Given the description of an element on the screen output the (x, y) to click on. 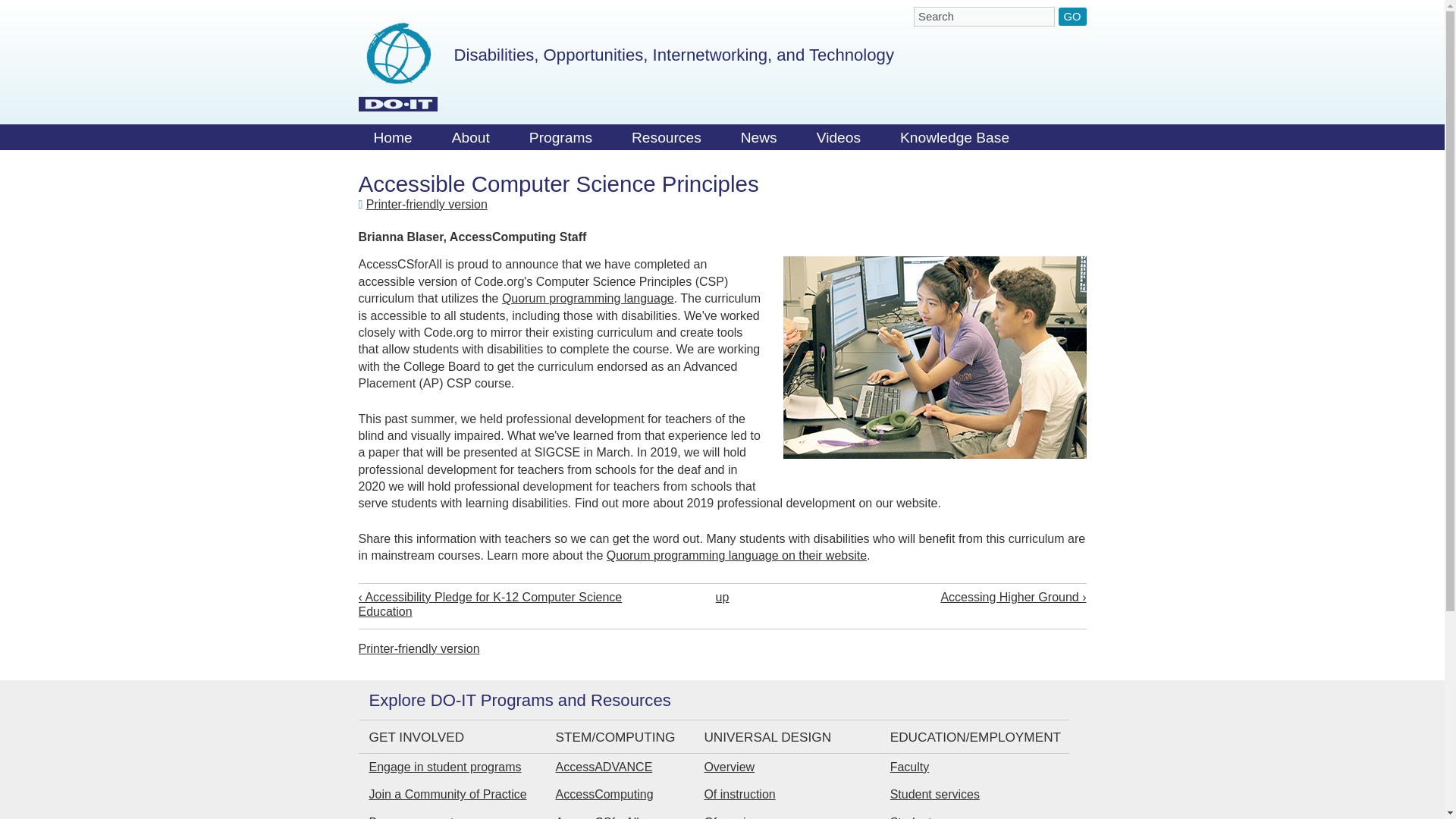
Printer-friendly version (418, 648)
Go to next page (940, 596)
Become a mentor (416, 817)
News (758, 140)
Engage in student programs (444, 766)
up (722, 596)
Knowledge Base (955, 140)
Join a Community of Practice (446, 793)
Videos (839, 140)
Resources (665, 140)
About (470, 140)
Enter the terms you wish to search for. (984, 16)
Home (392, 140)
Go to previous page (503, 604)
